Given the description of an element on the screen output the (x, y) to click on. 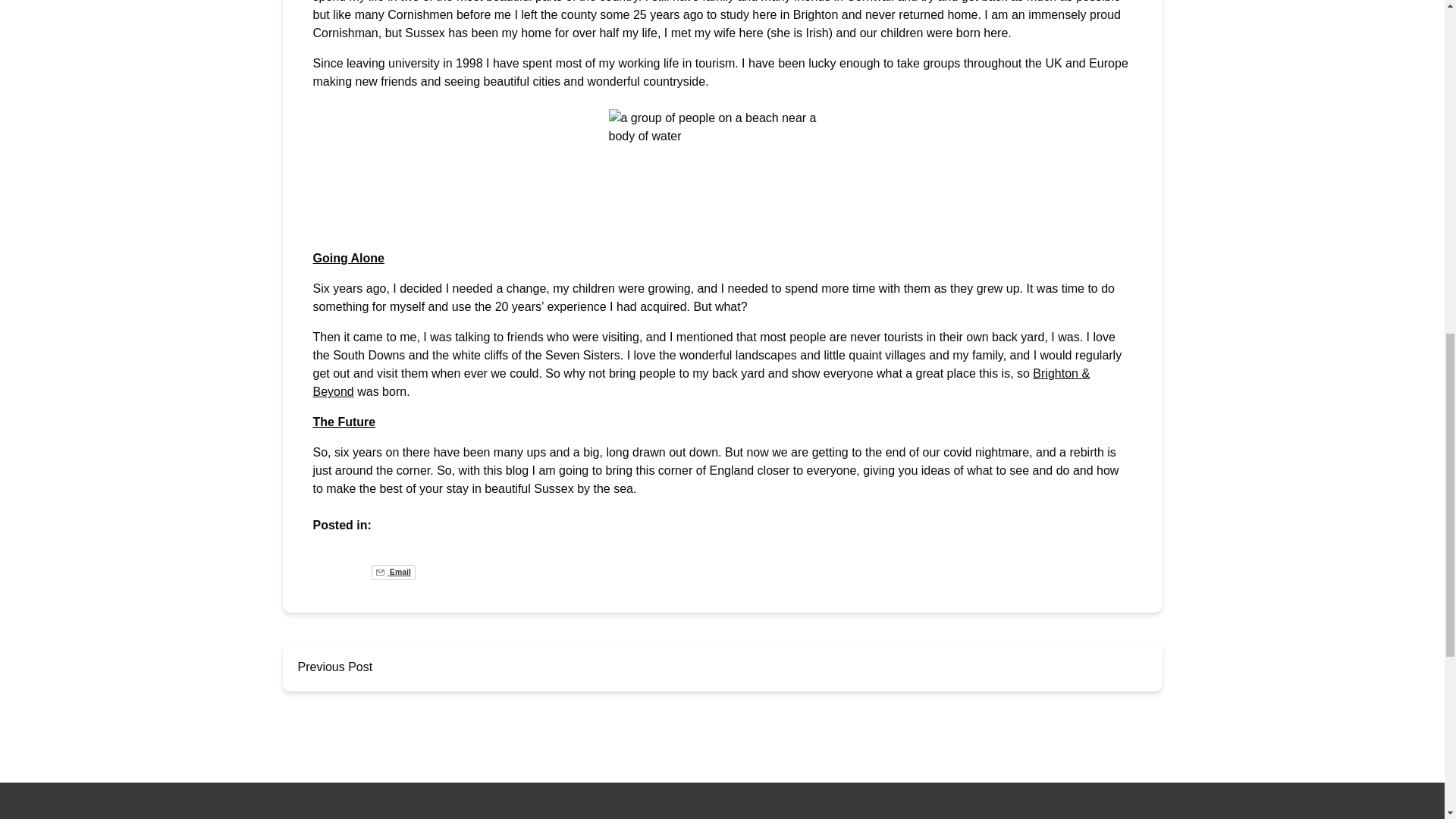
FareHarbor (1342, 64)
visit previous post (334, 666)
Email this page to a friend. (392, 572)
Previous Post (334, 666)
Email (392, 572)
